Given the description of an element on the screen output the (x, y) to click on. 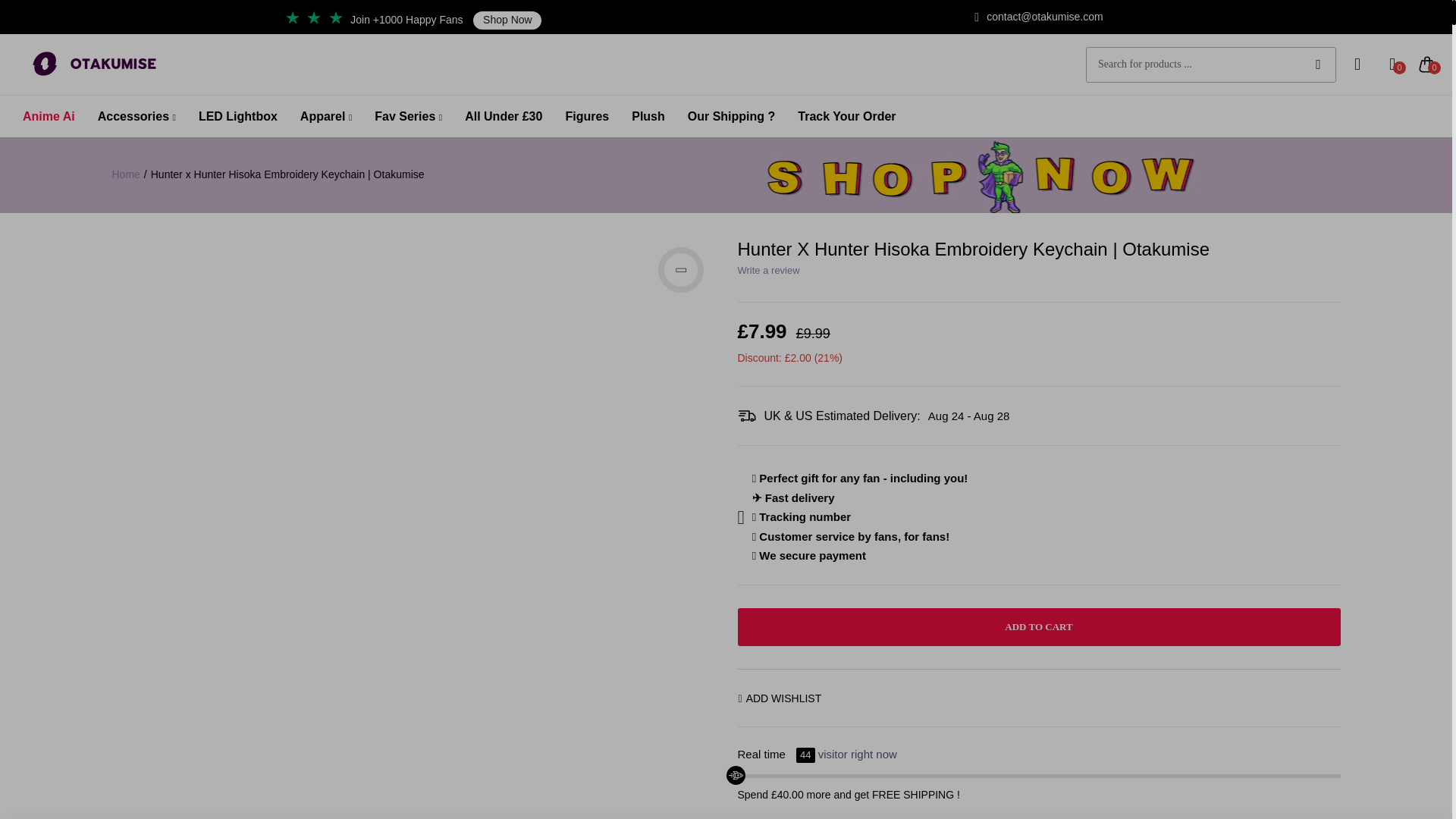
Figures (586, 116)
Write a review (767, 270)
Our Shipping ? (731, 116)
ADD TO CART (1037, 627)
Track Your Order (846, 116)
Apparel (325, 116)
Anime Ai (49, 116)
Accessories (136, 116)
ADD WISHLIST (779, 698)
0 (1427, 63)
